Given the description of an element on the screen output the (x, y) to click on. 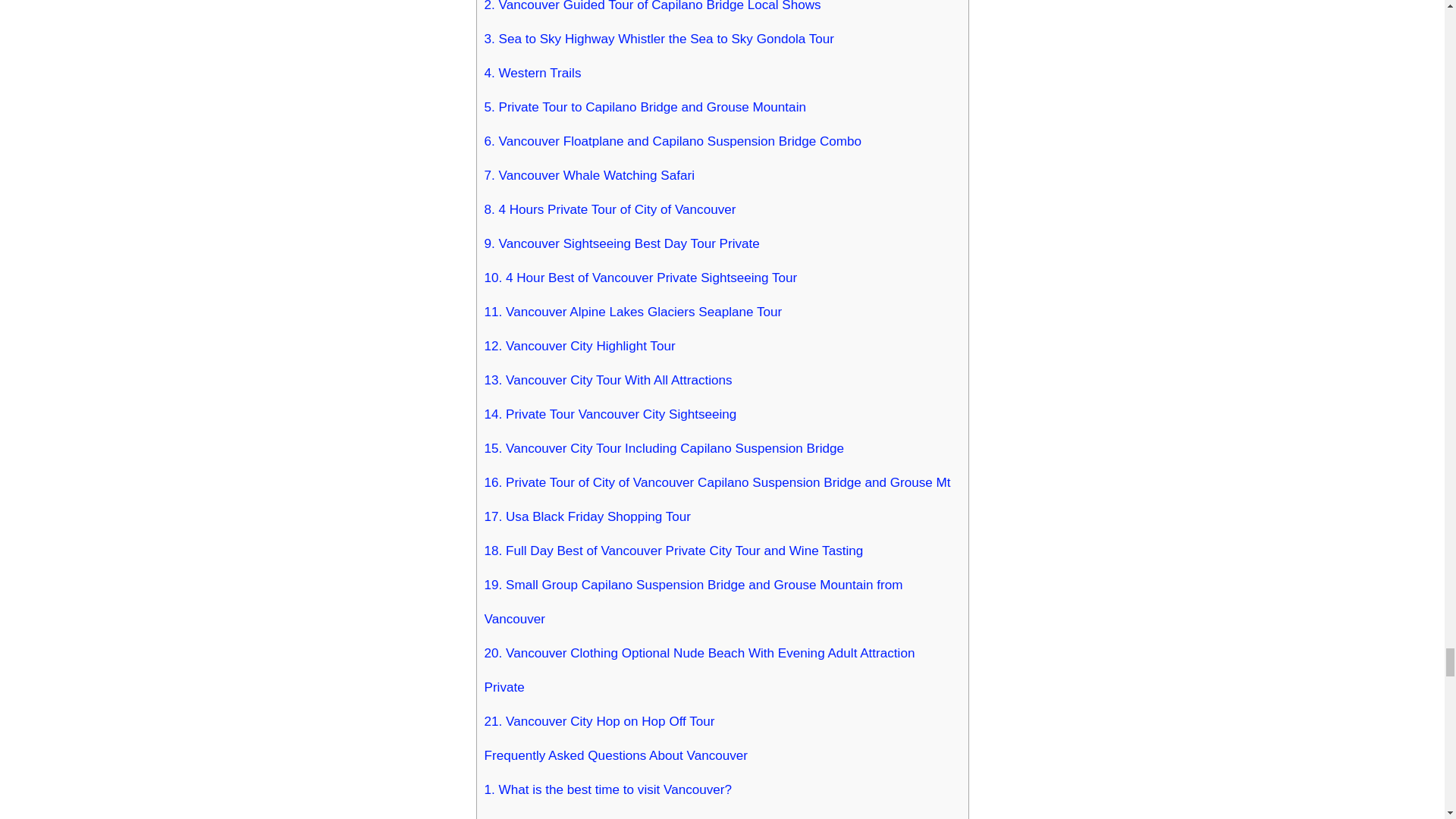
11. Vancouver Alpine Lakes Glaciers Seaplane Tour (632, 311)
5. Private Tour to Capilano Bridge and Grouse Mountain (644, 107)
8. 4 Hours Private Tour of City of Vancouver (609, 209)
7. Vancouver Whale Watching Safari (588, 175)
9. Vancouver Sightseeing Best Day Tour Private (620, 243)
4. Western Trails (531, 73)
10. 4 Hour Best of Vancouver Private Sightseeing Tour (639, 277)
3. Sea to Sky Highway Whistler the Sea to Sky Gondola Tour (657, 39)
2. Vancouver Guided Tour of Capilano Bridge Local Shows (652, 11)
6. Vancouver Floatplane and Capilano Suspension Bridge Combo (672, 141)
12. Vancouver City Highlight Tour (579, 346)
